Given the description of an element on the screen output the (x, y) to click on. 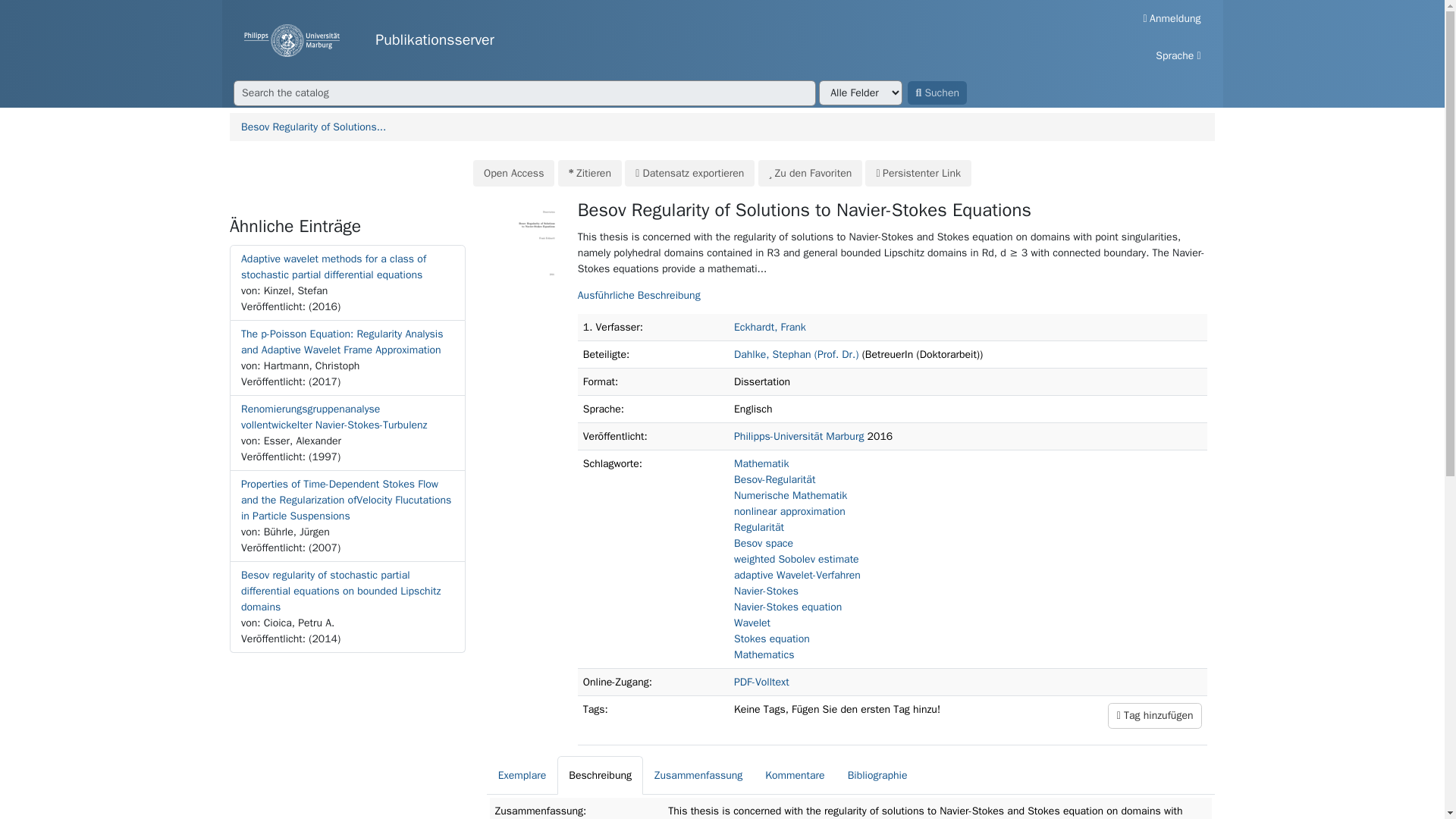
Mathematics (763, 654)
Stokes equation (771, 638)
nonlinear approximation (789, 511)
weighted Sobolev estimate (796, 558)
Anmeldung (1171, 18)
Navier-Stokes (765, 590)
adaptive Wavelet-Verfahren (796, 574)
Numerische Mathematik (790, 495)
Sprache (1177, 55)
Navier-Stokes equation (787, 606)
Wavelet (751, 622)
Besov space (763, 543)
Publikationsserver (654, 40)
Mathematik (761, 463)
